Given the description of an element on the screen output the (x, y) to click on. 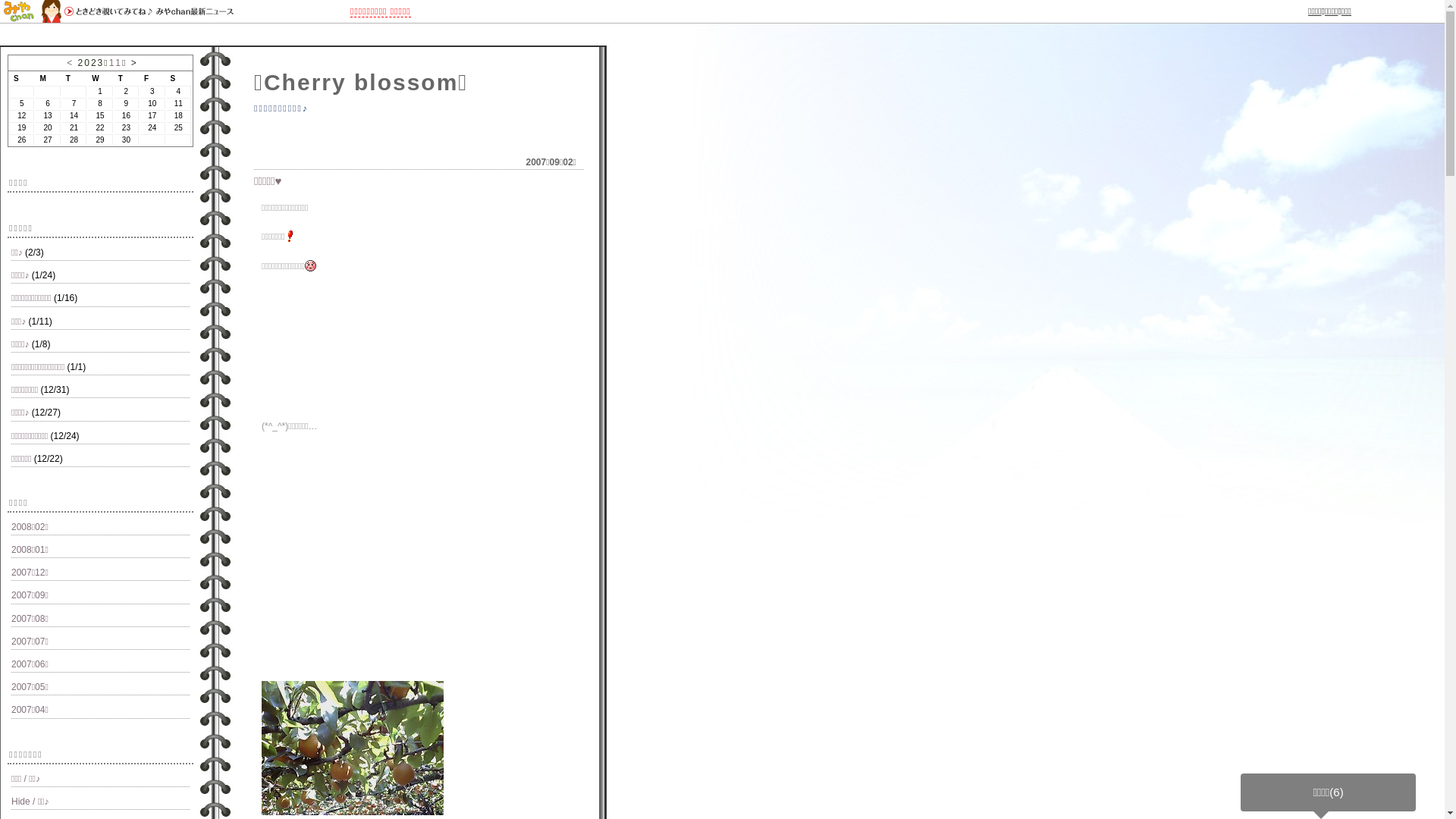
11 Element type: text (115, 62)
< Element type: text (69, 62)
